Given the description of an element on the screen output the (x, y) to click on. 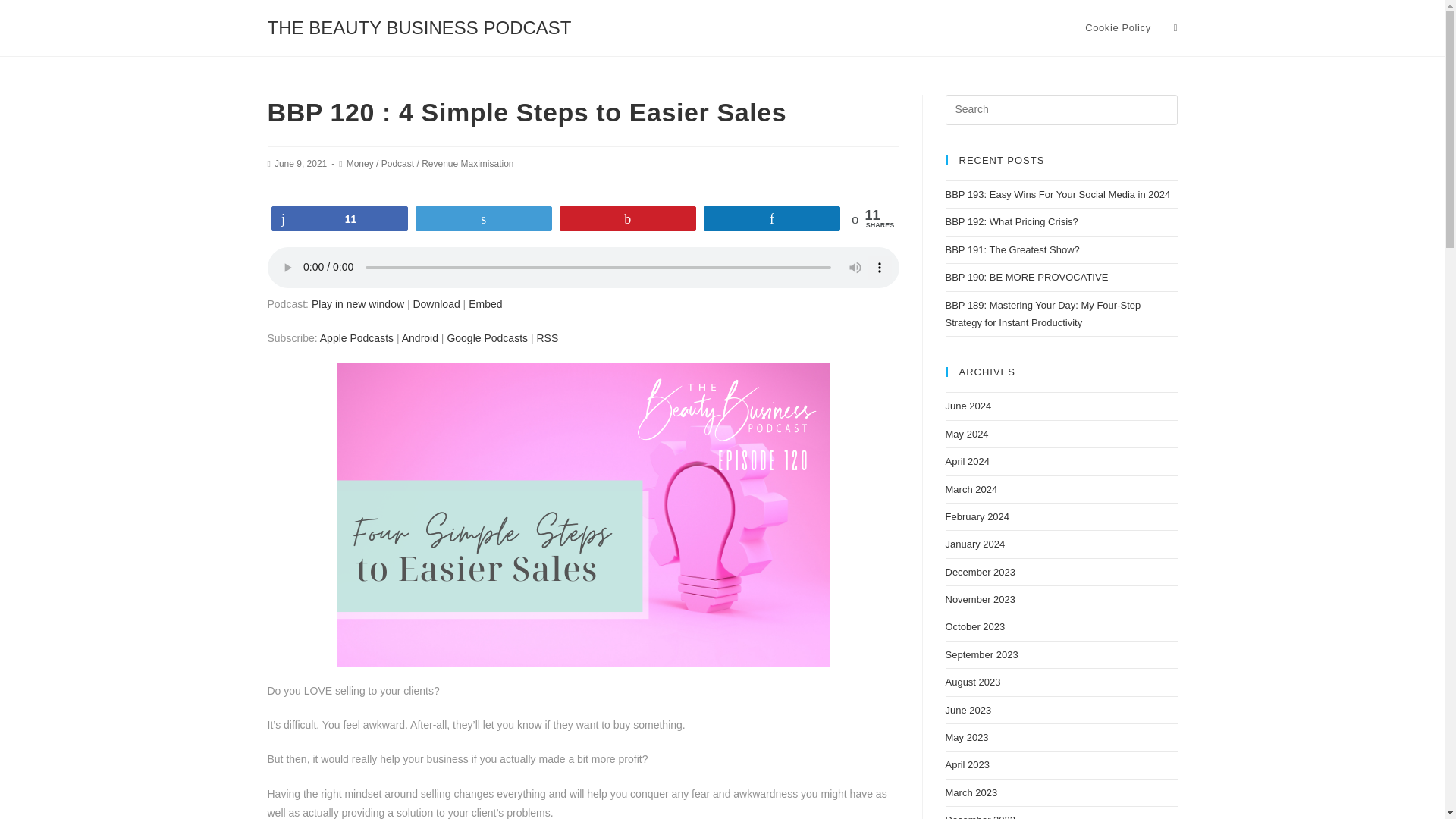
Android (419, 337)
Cookie Policy (1117, 28)
Download (436, 304)
BBP 193: Easy Wins For Your Social Media in 2024 (1057, 194)
Google Podcasts (486, 337)
Money (360, 163)
11 (338, 218)
Apple Podcasts (356, 337)
Revenue Maximisation (467, 163)
June 2024 (967, 405)
March 2024 (970, 489)
BBP 192: What Pricing Crisis? (1010, 221)
Subscribe on Apple Podcasts (356, 337)
Embed (485, 304)
